Given the description of an element on the screen output the (x, y) to click on. 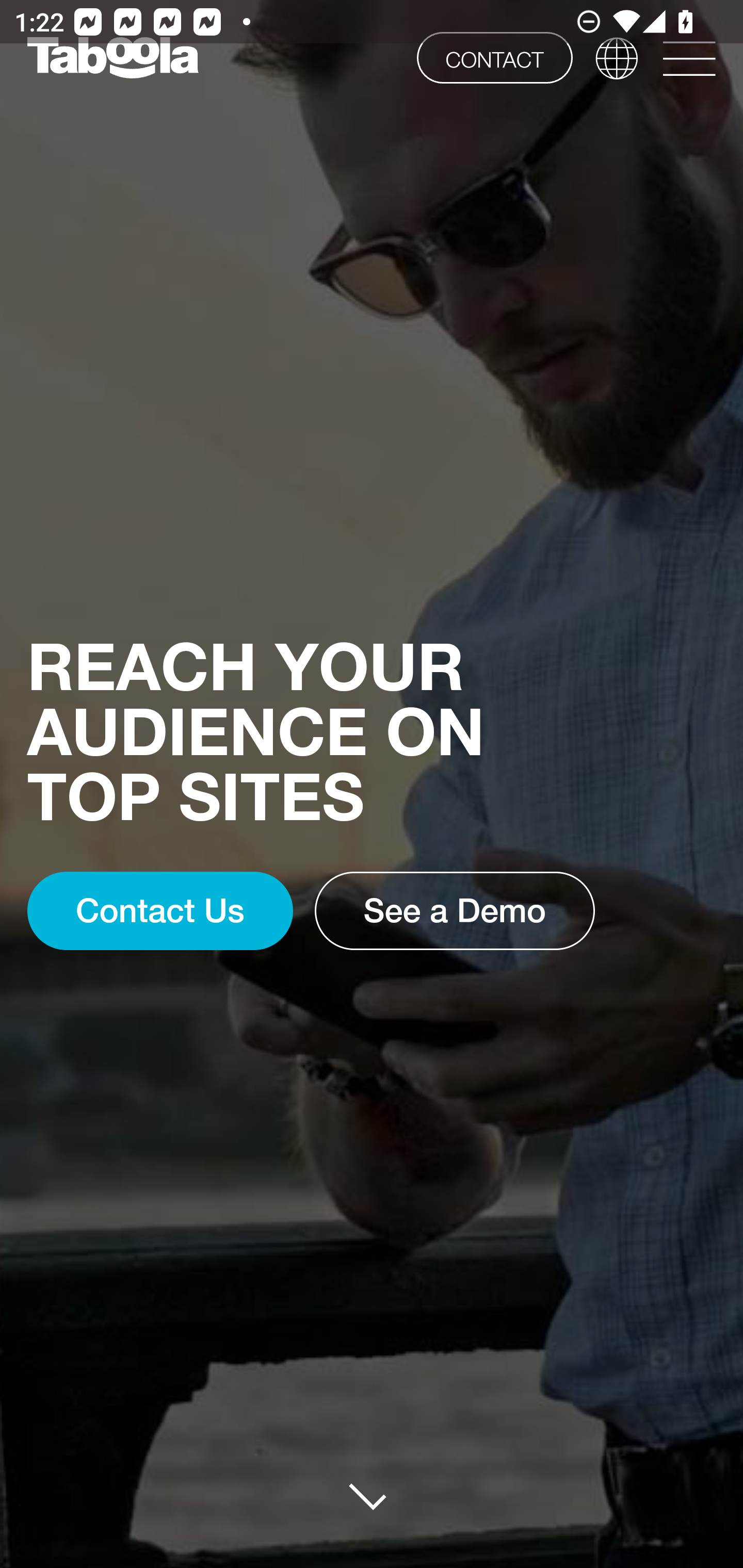
CONTACT (494, 56)
www.taboola (112, 57)
Contact Us (159, 910)
See a Demo (454, 910)
advertise#slider (372, 1496)
